Given the description of an element on the screen output the (x, y) to click on. 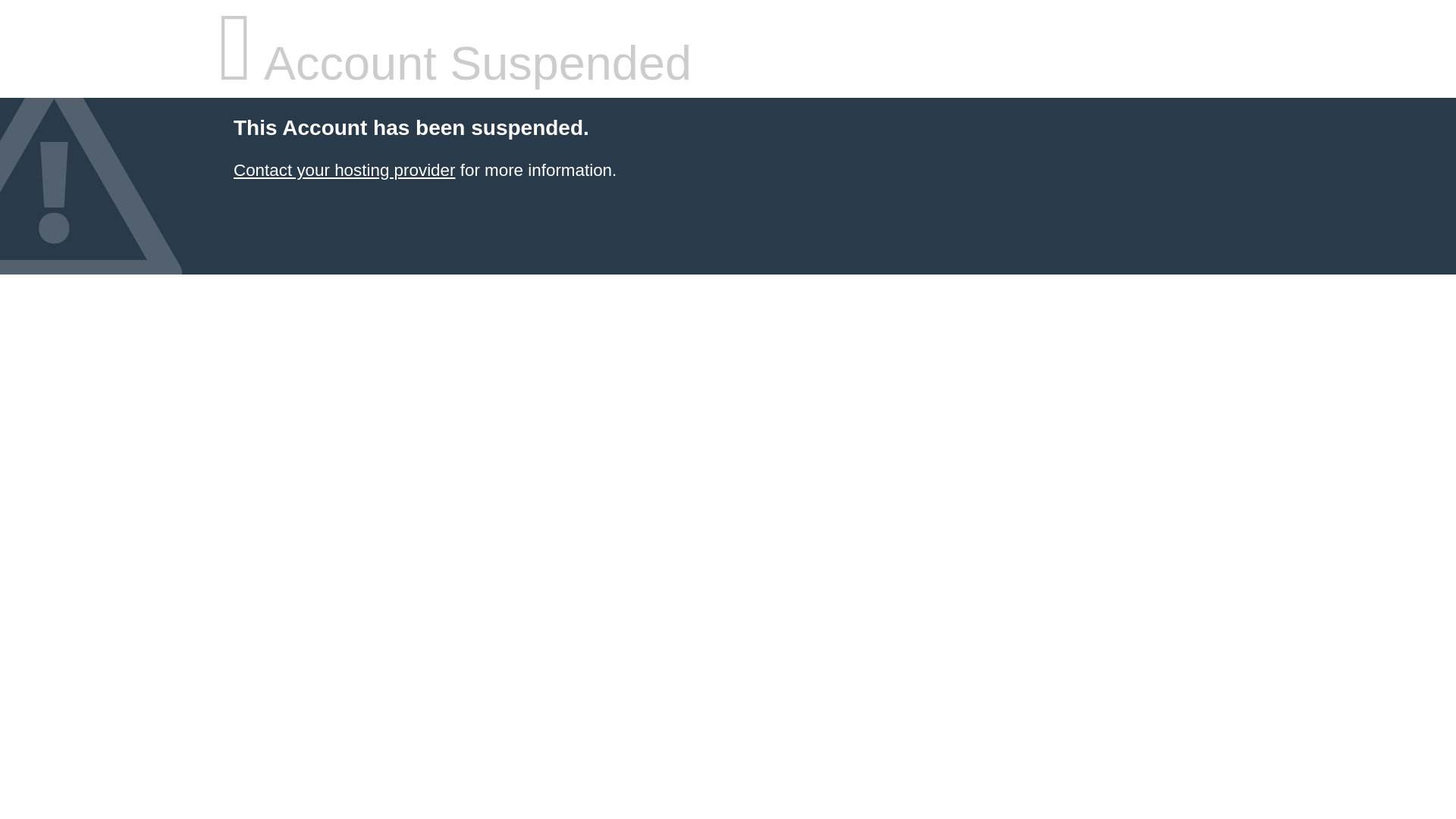
Contact your hosting provider (343, 169)
